Given the description of an element on the screen output the (x, y) to click on. 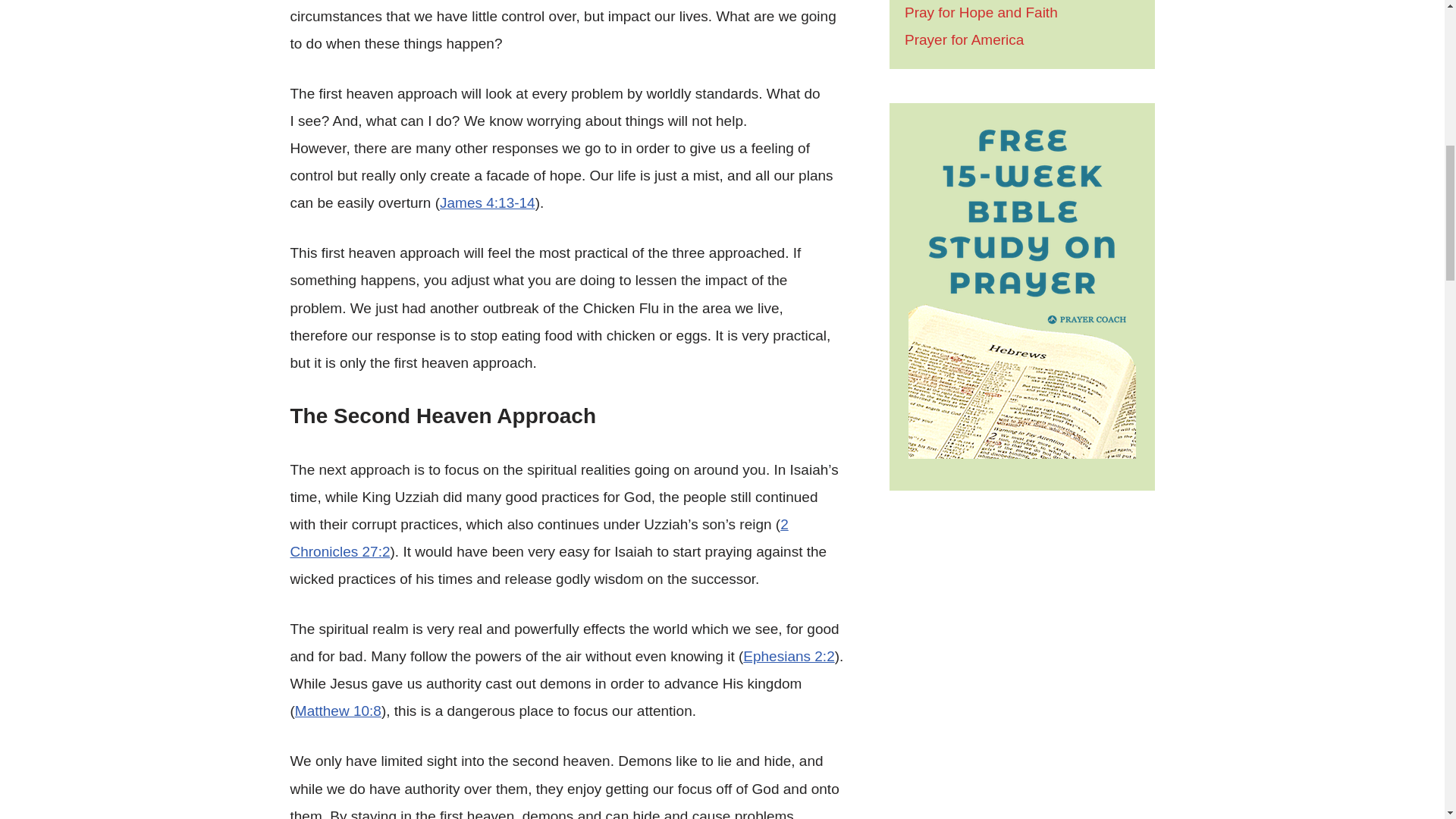
James 4:13-14 (487, 202)
Matthew 10:8 (338, 710)
Ephesians 2:2 (788, 656)
2 Chronicles 27:2 (538, 537)
2 Chronicles 27:2 (538, 537)
James 4:13-14 (487, 202)
Matthew 10:8 (338, 710)
Ephesians 2:2 (788, 656)
